Given the description of an element on the screen output the (x, y) to click on. 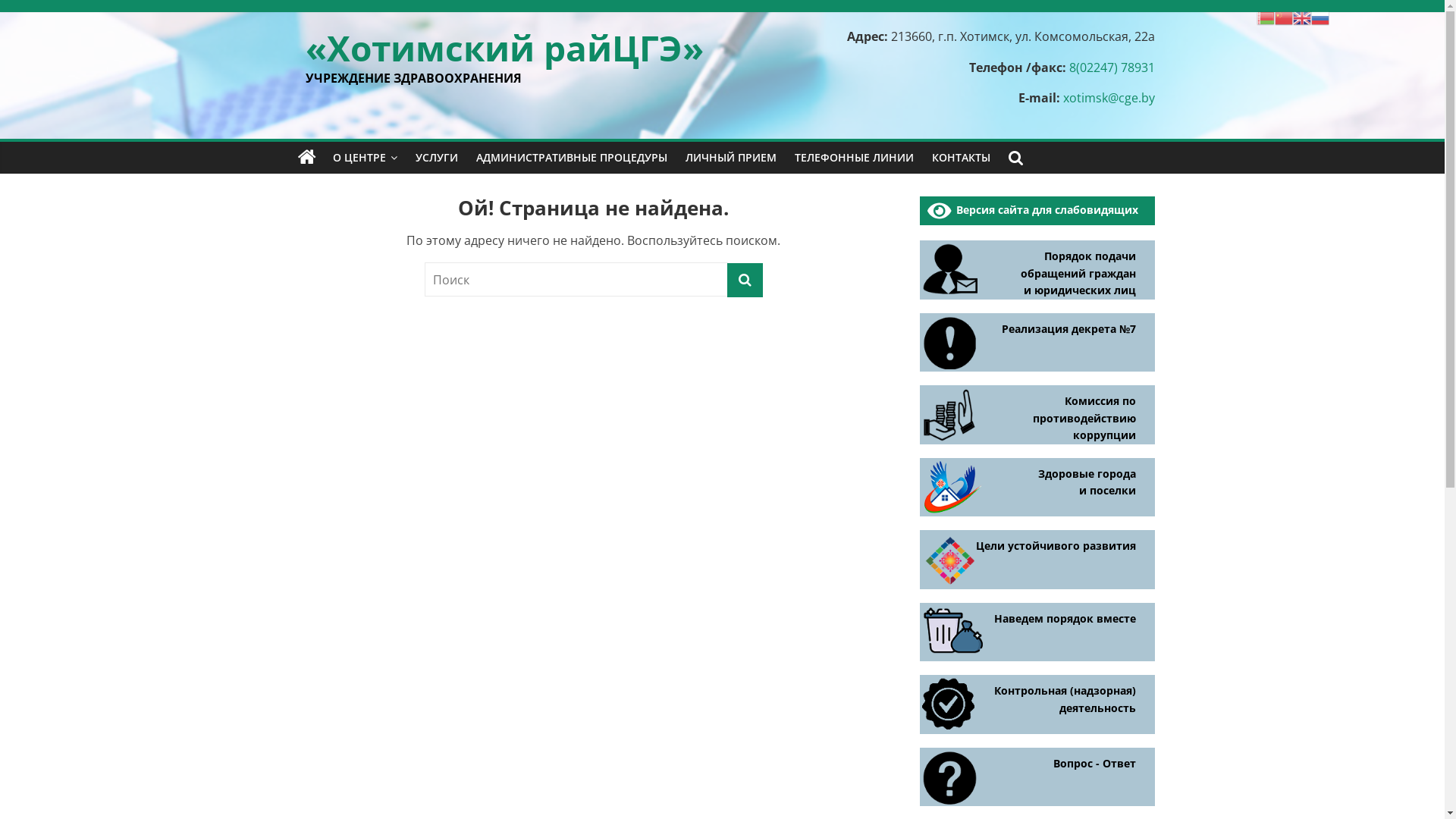
Russian Element type: hover (1320, 16)
Belarusian Element type: hover (1265, 16)
xotimsk@cge.by Element type: text (1108, 97)
English Element type: hover (1301, 16)
Chinese (Simplified) Element type: hover (1283, 16)
8(02247) 78931 Element type: text (1111, 67)
